Given the description of an element on the screen output the (x, y) to click on. 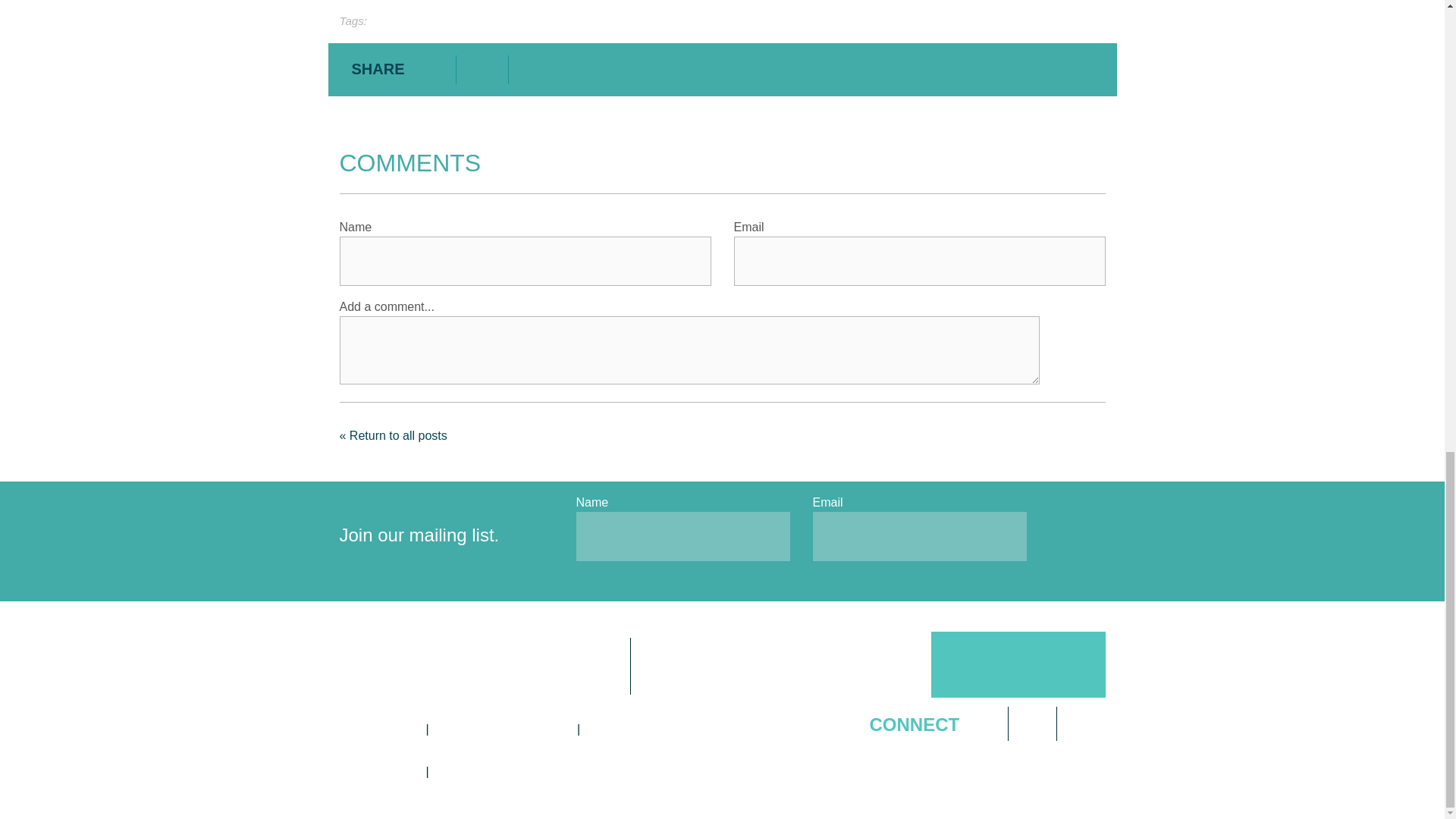
CONTACT US (555, 669)
DONATE (689, 669)
Privacy Policy (376, 771)
316-530-2203 (376, 728)
Sitemap (461, 771)
